Given the description of an element on the screen output the (x, y) to click on. 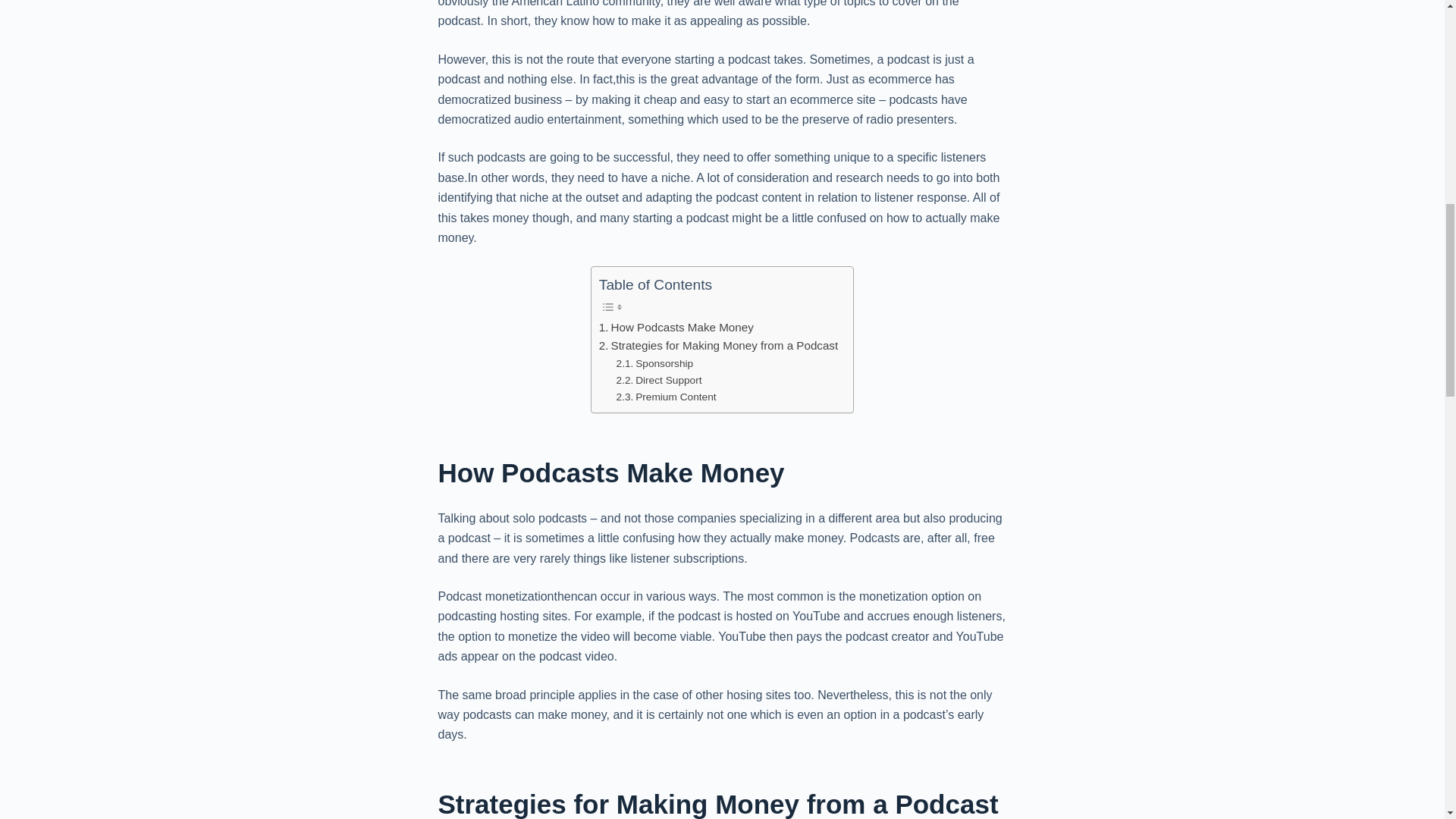
Direct Support (658, 380)
Strategies for Making Money from a Podcast (718, 345)
Premium Content (665, 397)
Direct Support (658, 380)
Premium Content (665, 397)
How Podcasts Make Money (676, 327)
Strategies for Making Money from a Podcast (718, 345)
How Podcasts Make Money (676, 327)
Sponsorship (654, 363)
Sponsorship (654, 363)
